Given the description of an element on the screen output the (x, y) to click on. 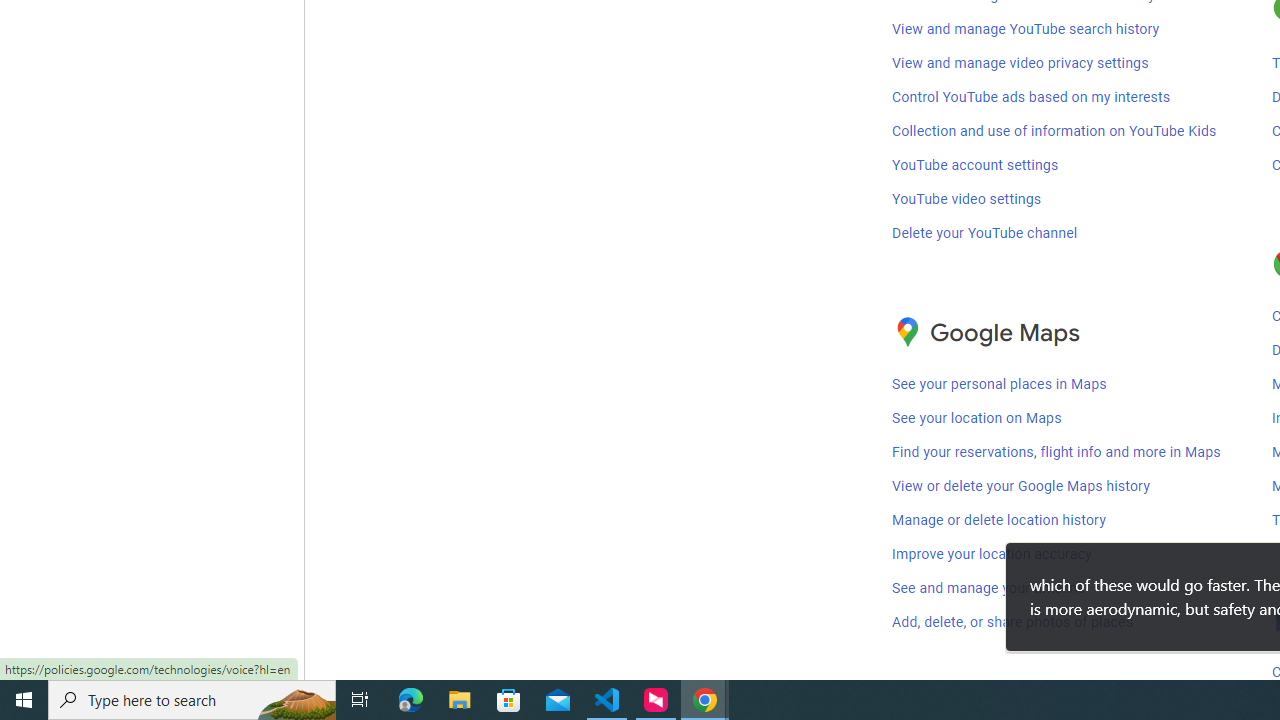
Add, delete, or share photos of places (1013, 623)
